Given the description of an element on the screen output the (x, y) to click on. 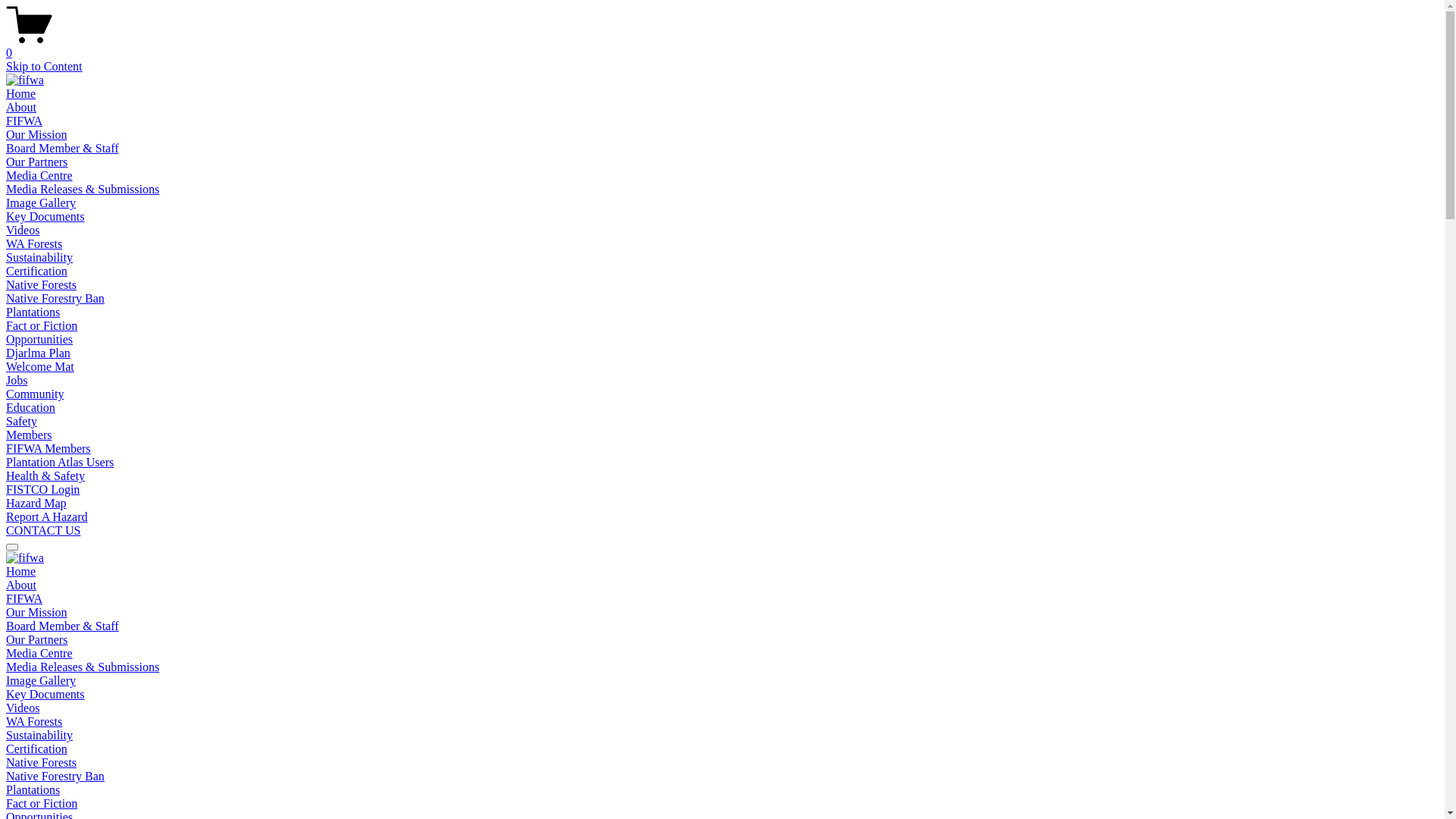
Media Releases & Submissions Element type: text (82, 188)
Native Forestry Ban Element type: text (55, 297)
Certification Element type: text (36, 270)
Videos Element type: text (22, 229)
Jobs Element type: text (16, 379)
Our Partners Element type: text (36, 161)
Welcome Mat Element type: text (40, 366)
Media Centre Element type: text (39, 175)
Media Releases & Submissions Element type: text (82, 666)
Home Element type: text (20, 93)
WA Forests Element type: text (34, 721)
FIFWA Members Element type: text (48, 448)
0 Element type: text (722, 45)
Fact or Fiction Element type: text (41, 803)
Native Forests Element type: text (41, 284)
Hazard Map Element type: text (36, 502)
Report A Hazard Element type: text (46, 516)
FIFWA Element type: text (24, 120)
Djarlma Plan Element type: text (38, 352)
Native Forestry Ban Element type: text (55, 775)
Skip to Content Element type: text (43, 65)
Plantations Element type: text (32, 789)
Image Gallery Element type: text (40, 202)
Sustainability Element type: text (39, 257)
Board Member & Staff Element type: text (62, 625)
Community Element type: text (34, 393)
Safety Element type: text (21, 420)
Image Gallery Element type: text (40, 680)
About Element type: text (21, 584)
Board Member & Staff Element type: text (62, 147)
Fact or Fiction Element type: text (41, 325)
Opportunities Element type: text (39, 338)
Native Forests Element type: text (41, 762)
Certification Element type: text (36, 748)
Sustainability Element type: text (39, 734)
FIFWA Element type: text (24, 598)
Health & Safety Element type: text (45, 475)
Our Mission Element type: text (36, 611)
Plantations Element type: text (32, 311)
Members Element type: text (28, 434)
Our Mission Element type: text (36, 134)
FISTCO Login Element type: text (42, 489)
Our Partners Element type: text (36, 639)
WA Forests Element type: text (34, 243)
Videos Element type: text (22, 707)
Media Centre Element type: text (39, 652)
About Element type: text (21, 106)
CONTACT US Element type: text (43, 530)
Key Documents Element type: text (45, 216)
Key Documents Element type: text (45, 693)
Plantation Atlas Users Element type: text (59, 461)
Home Element type: text (20, 570)
Education Element type: text (30, 407)
